Given the description of an element on the screen output the (x, y) to click on. 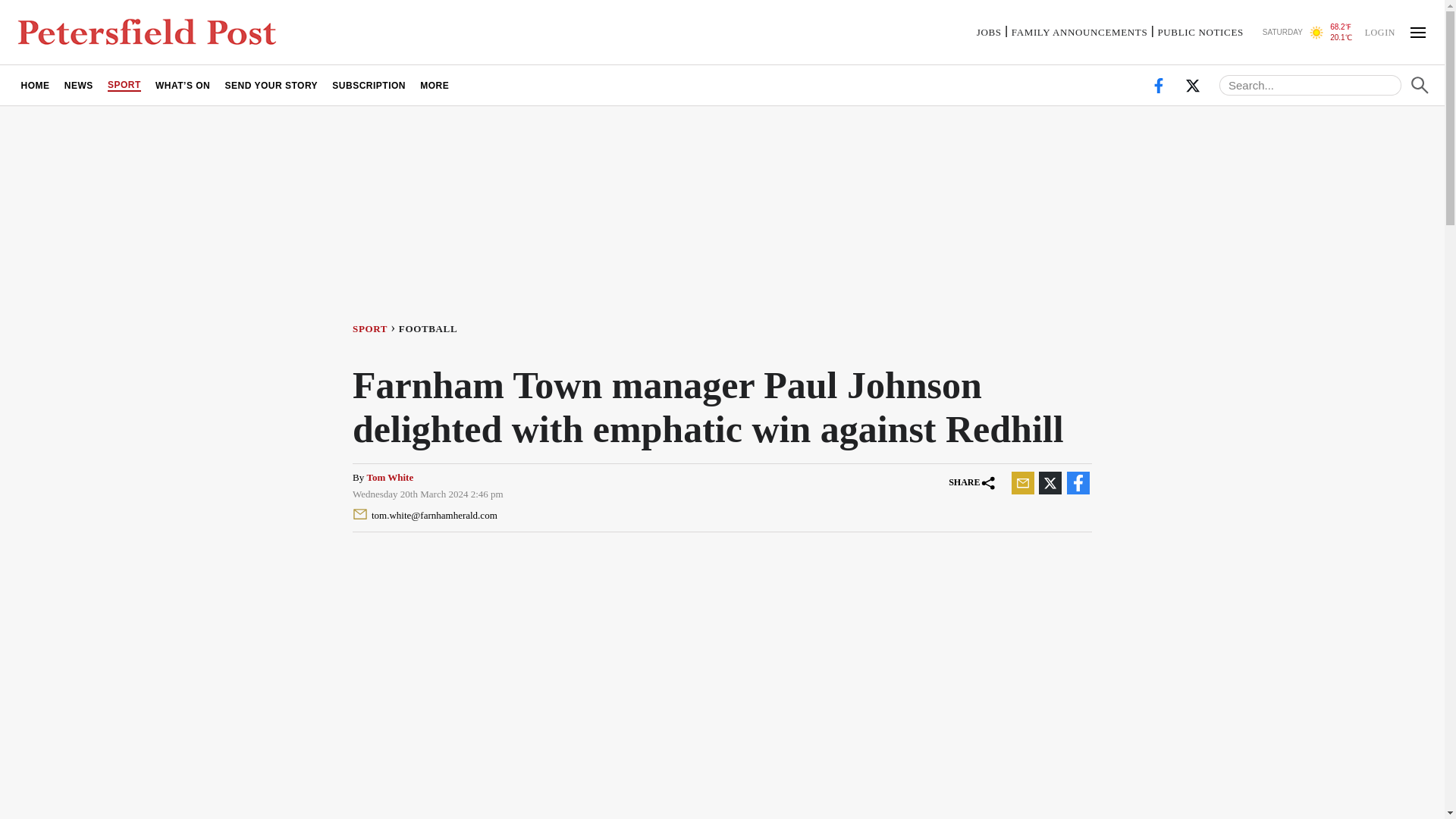
Tom White (389, 477)
MORE (435, 85)
NEWS (78, 85)
LOGIN (1379, 31)
SPORT (124, 85)
SUBSCRIPTION (368, 85)
FOOTBALL (430, 328)
PUBLIC NOTICES (1200, 32)
SPORT (375, 328)
HOME (34, 85)
